Given the description of an element on the screen output the (x, y) to click on. 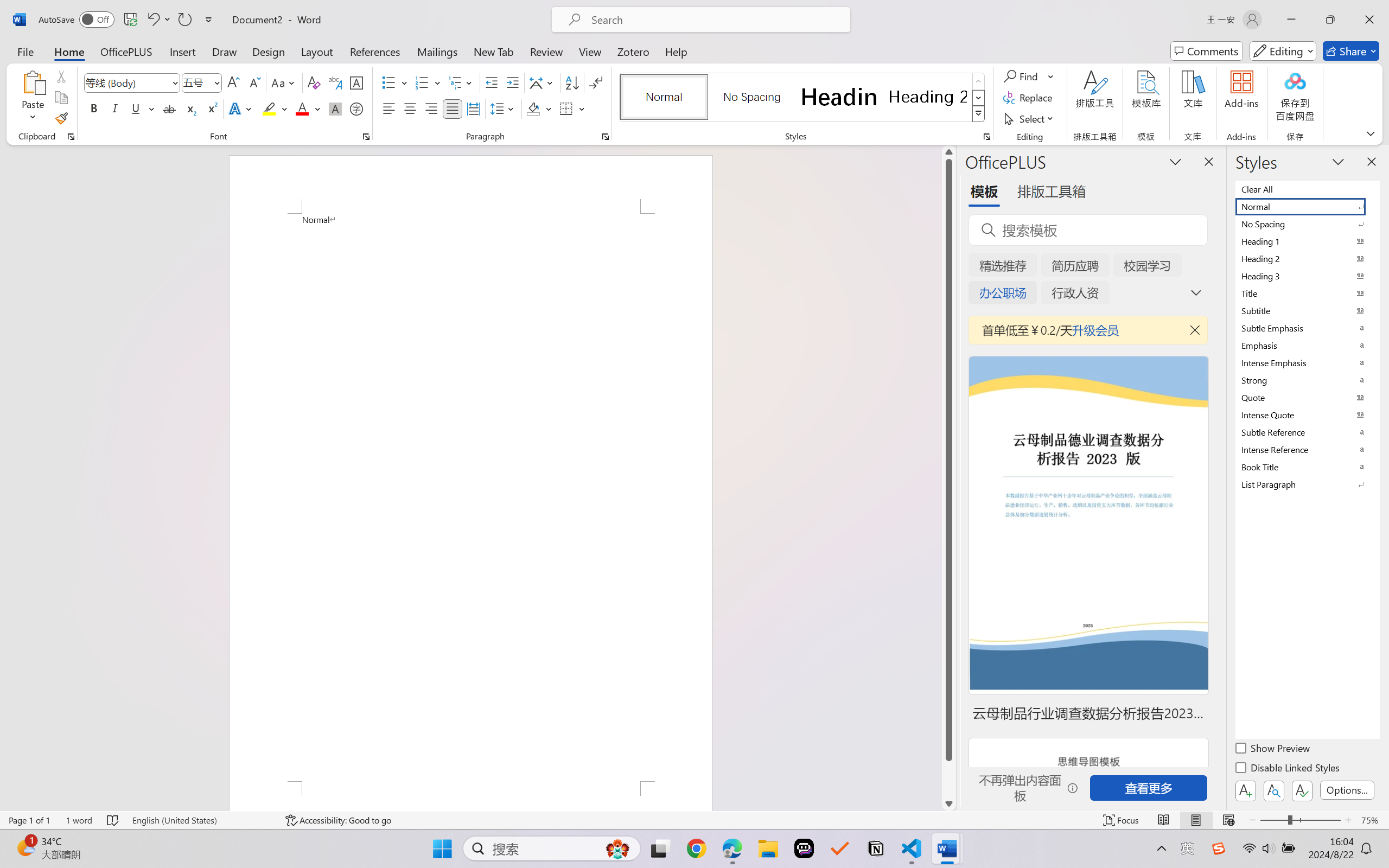
Layout (316, 51)
Find (1022, 75)
